Given the description of an element on the screen output the (x, y) to click on. 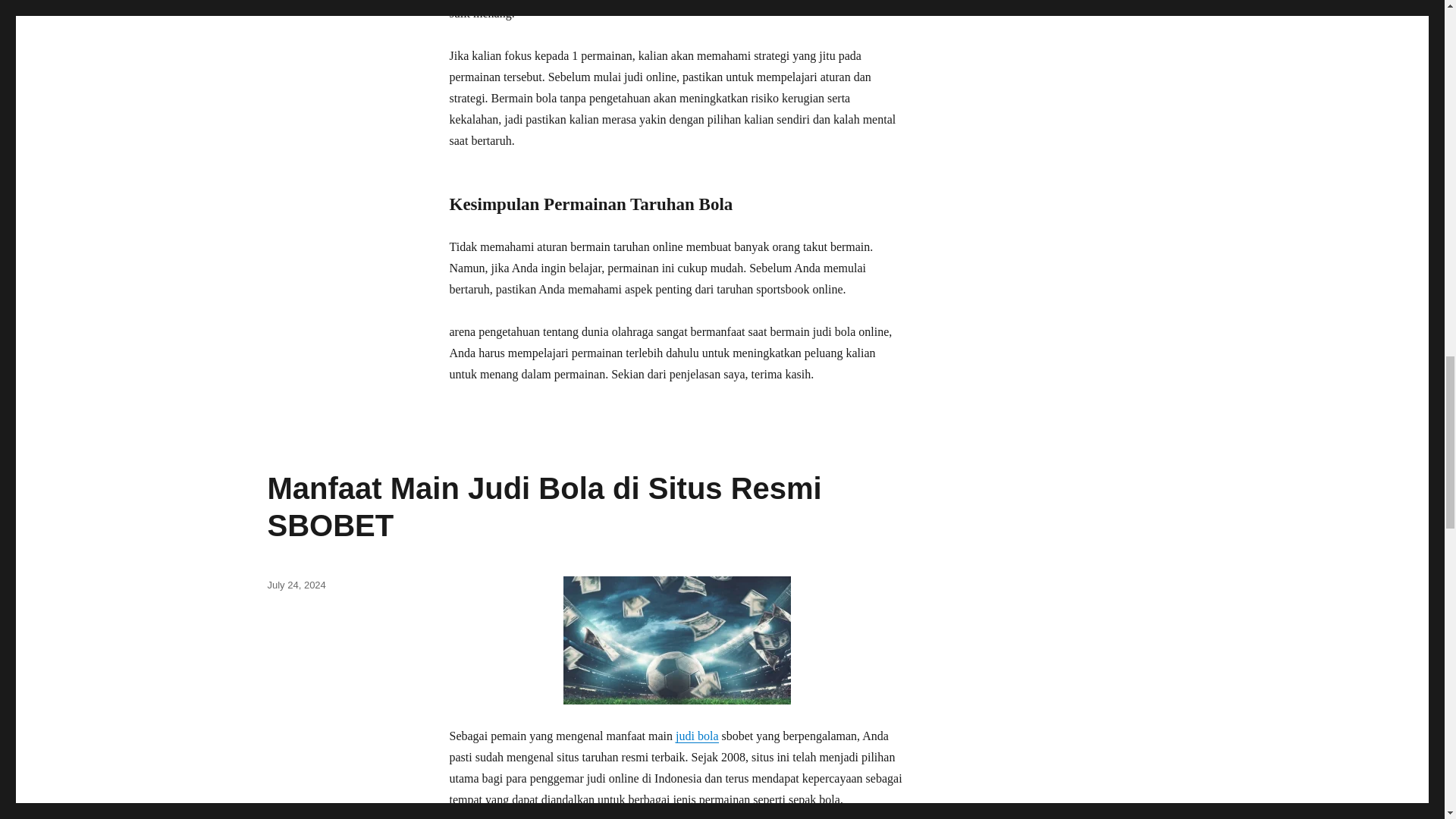
Manfaat Main Judi Bola di Situs Resmi SBOBET (543, 506)
judi bola (696, 735)
July 24, 2024 (295, 584)
